Given the description of an element on the screen output the (x, y) to click on. 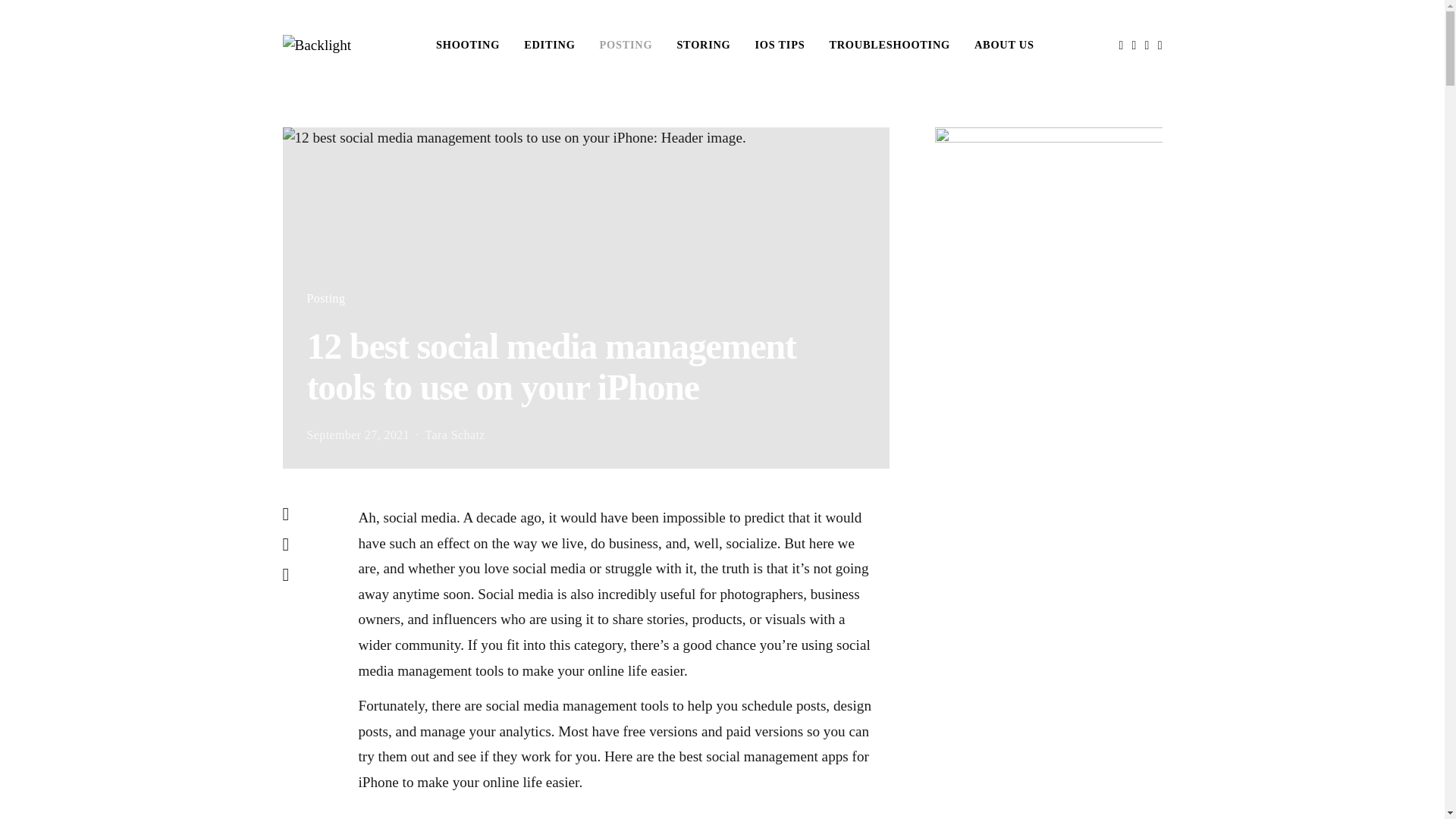
IOS TIPS (780, 45)
Tara Schatz (454, 434)
POSTING (625, 45)
Posting (325, 297)
View all posts by Tara Schatz (454, 434)
ABOUT US (1003, 45)
SHOOTING (467, 45)
TROUBLESHOOTING (889, 45)
September 27, 2021 (357, 434)
EDITING (549, 45)
